Given the description of an element on the screen output the (x, y) to click on. 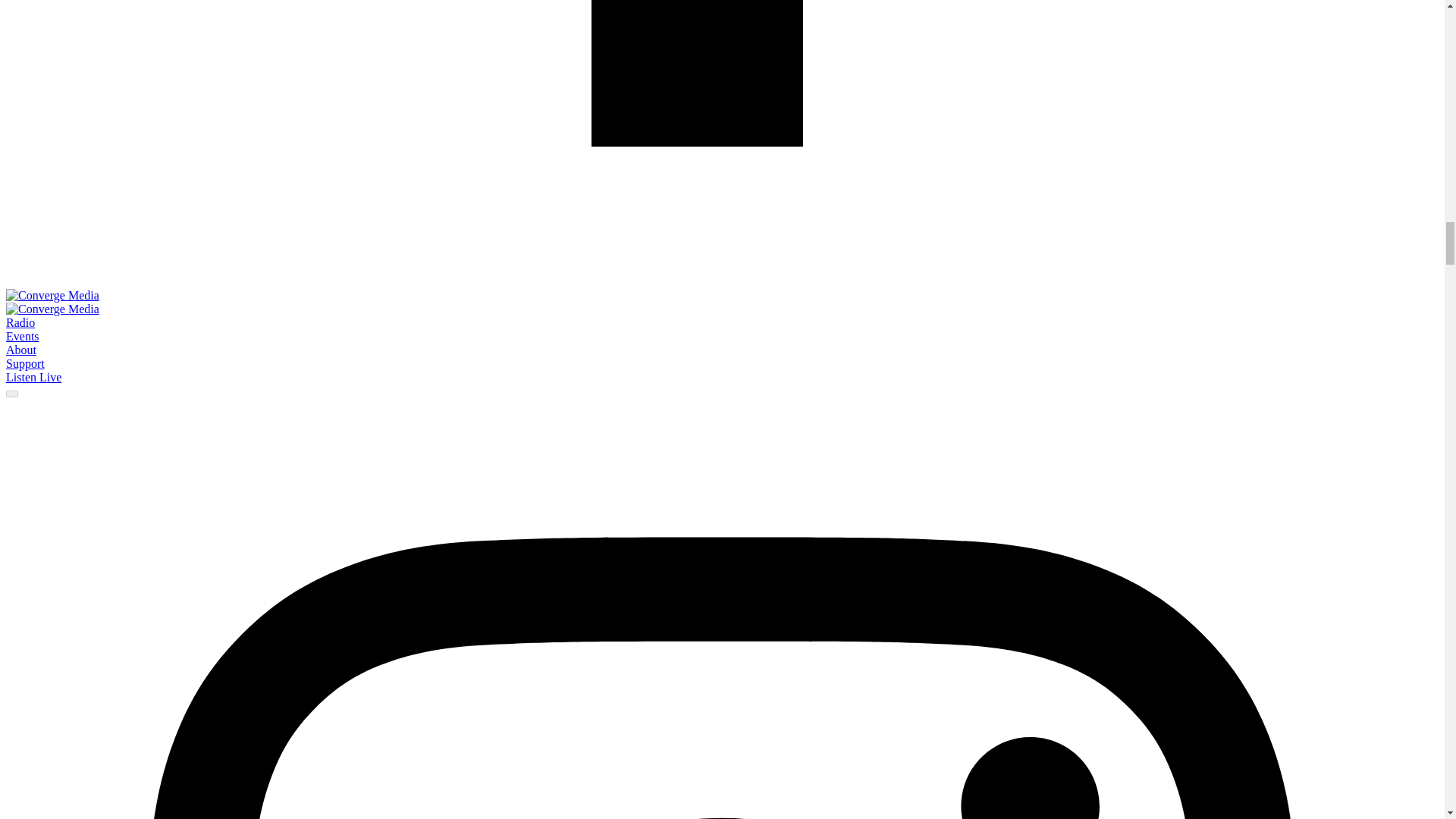
Support (25, 363)
Listen Live (33, 377)
Radio (19, 322)
Events (22, 336)
About (20, 349)
